Given the description of an element on the screen output the (x, y) to click on. 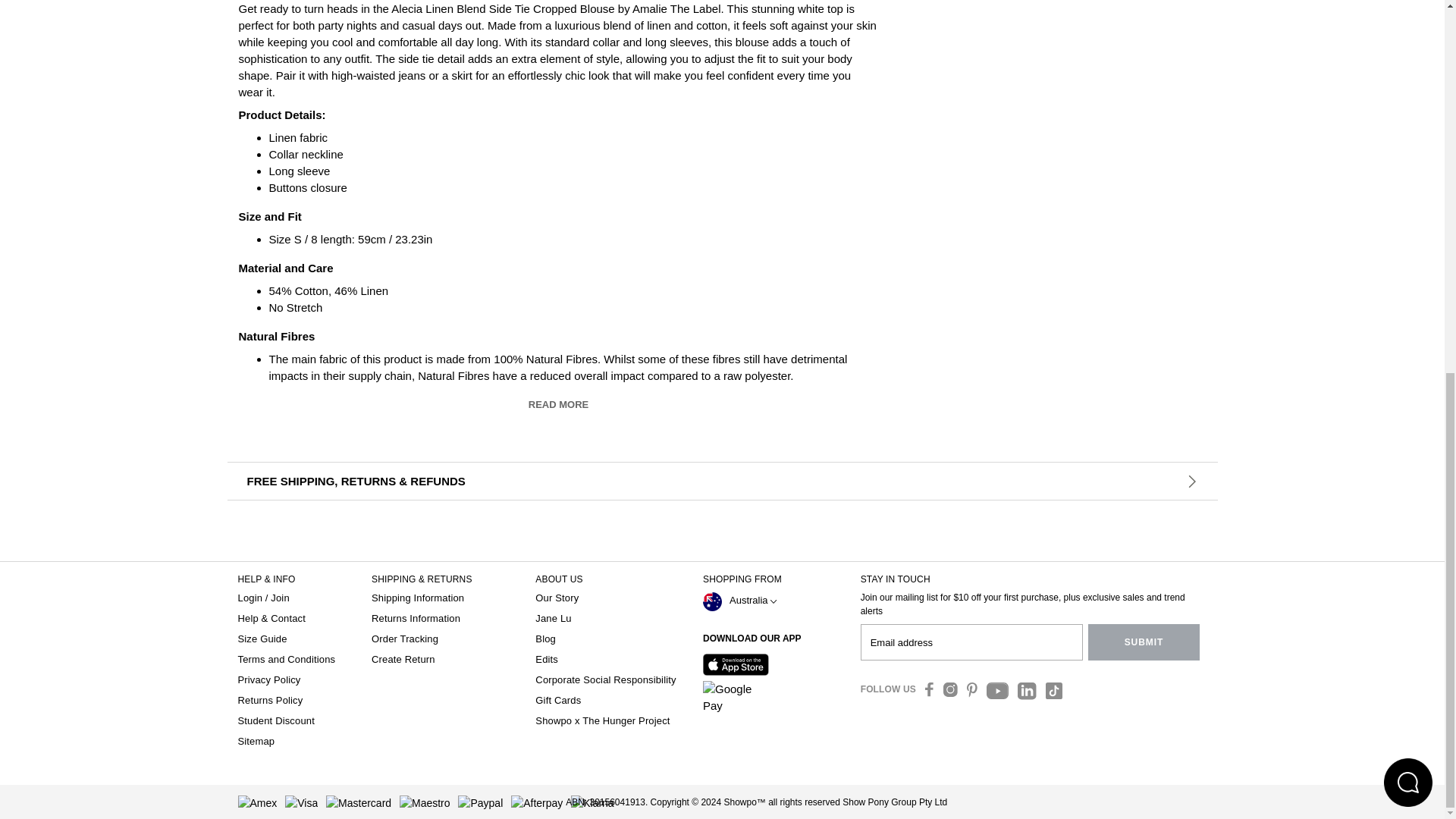
Go to Size Guide (262, 638)
Go to Returns policy (270, 699)
Go to Privacy policy (269, 679)
